Given the description of an element on the screen output the (x, y) to click on. 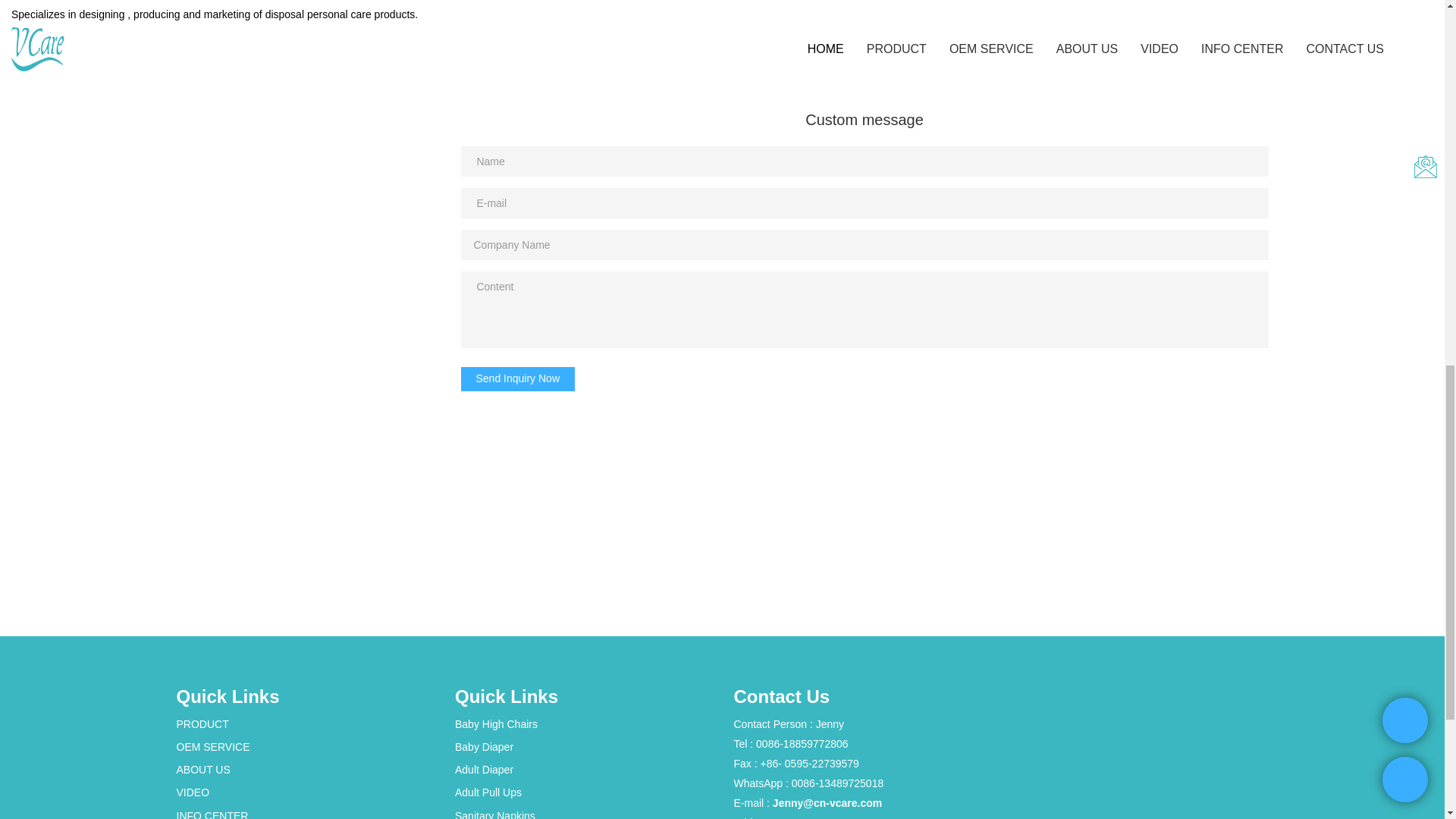
Send Inquiry Now (518, 378)
